Given the description of an element on the screen output the (x, y) to click on. 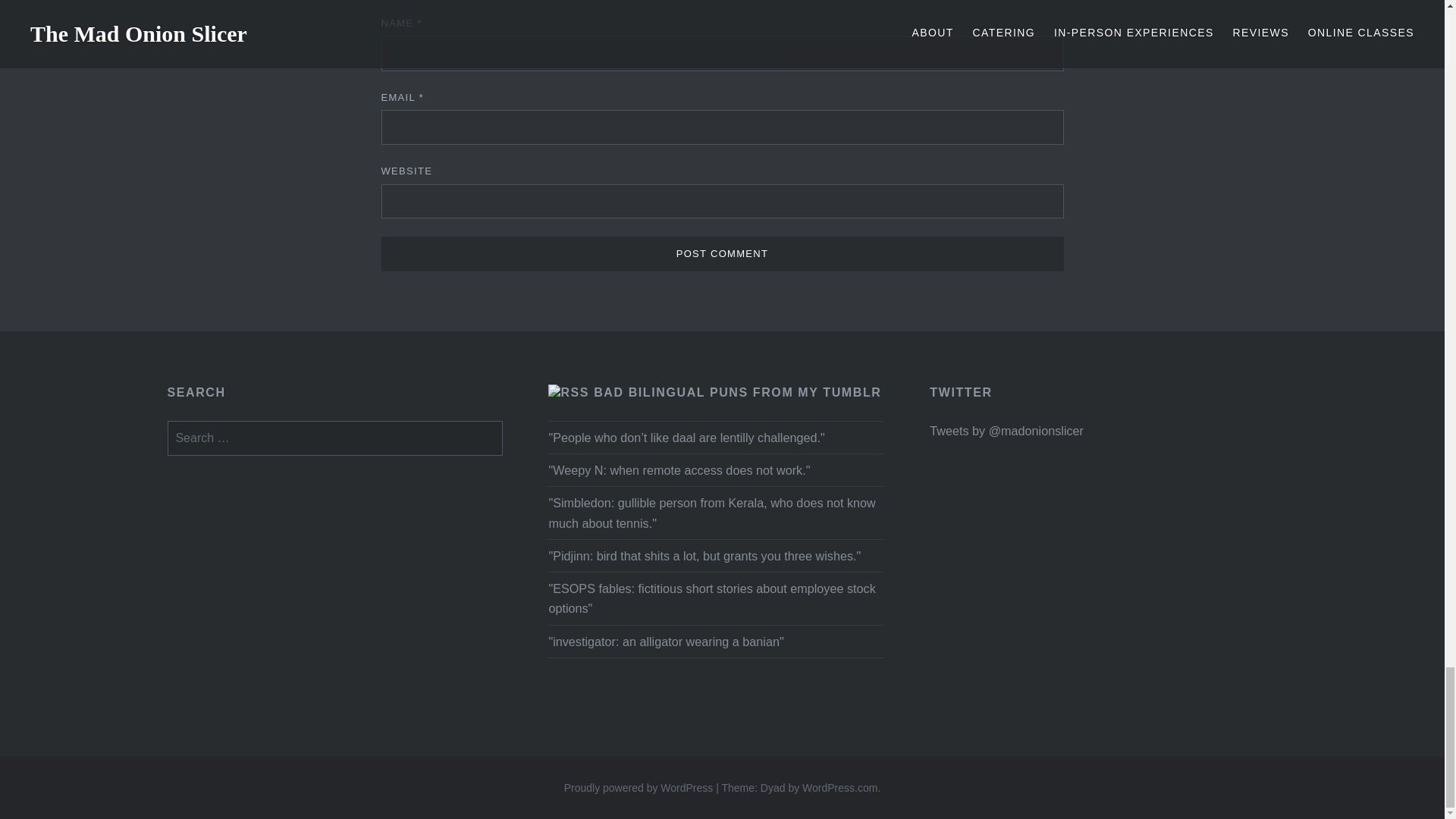
BAD BILINGUAL PUNS FROM MY TUMBLR (737, 391)
WordPress.com (839, 787)
Post Comment (721, 253)
"investigator: an alligator wearing a banian" (665, 641)
Post Comment (721, 253)
Proudly powered by WordPress (638, 787)
"Weepy N: when remote access does not work." (678, 469)
